Given the description of an element on the screen output the (x, y) to click on. 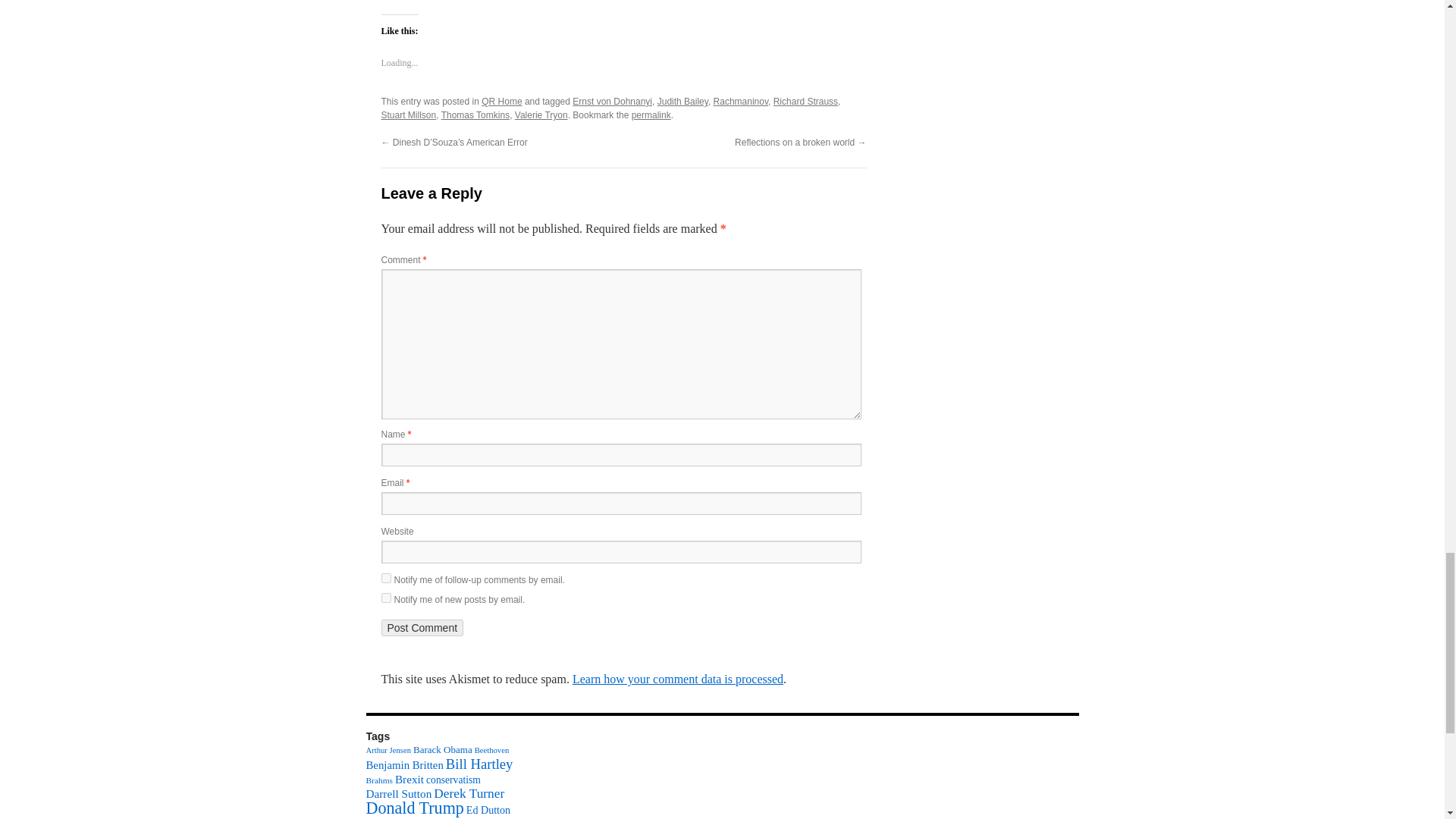
Permalink to ENDNOTES, October 2014 (651, 114)
Learn how your comment data is processed (677, 678)
Judith Bailey (682, 101)
subscribe (385, 597)
Post Comment (421, 627)
Valerie Tryon (541, 114)
Richard Strauss (805, 101)
Stuart Millson (407, 114)
Rachmaninov (740, 101)
permalink (651, 114)
